Given the description of an element on the screen output the (x, y) to click on. 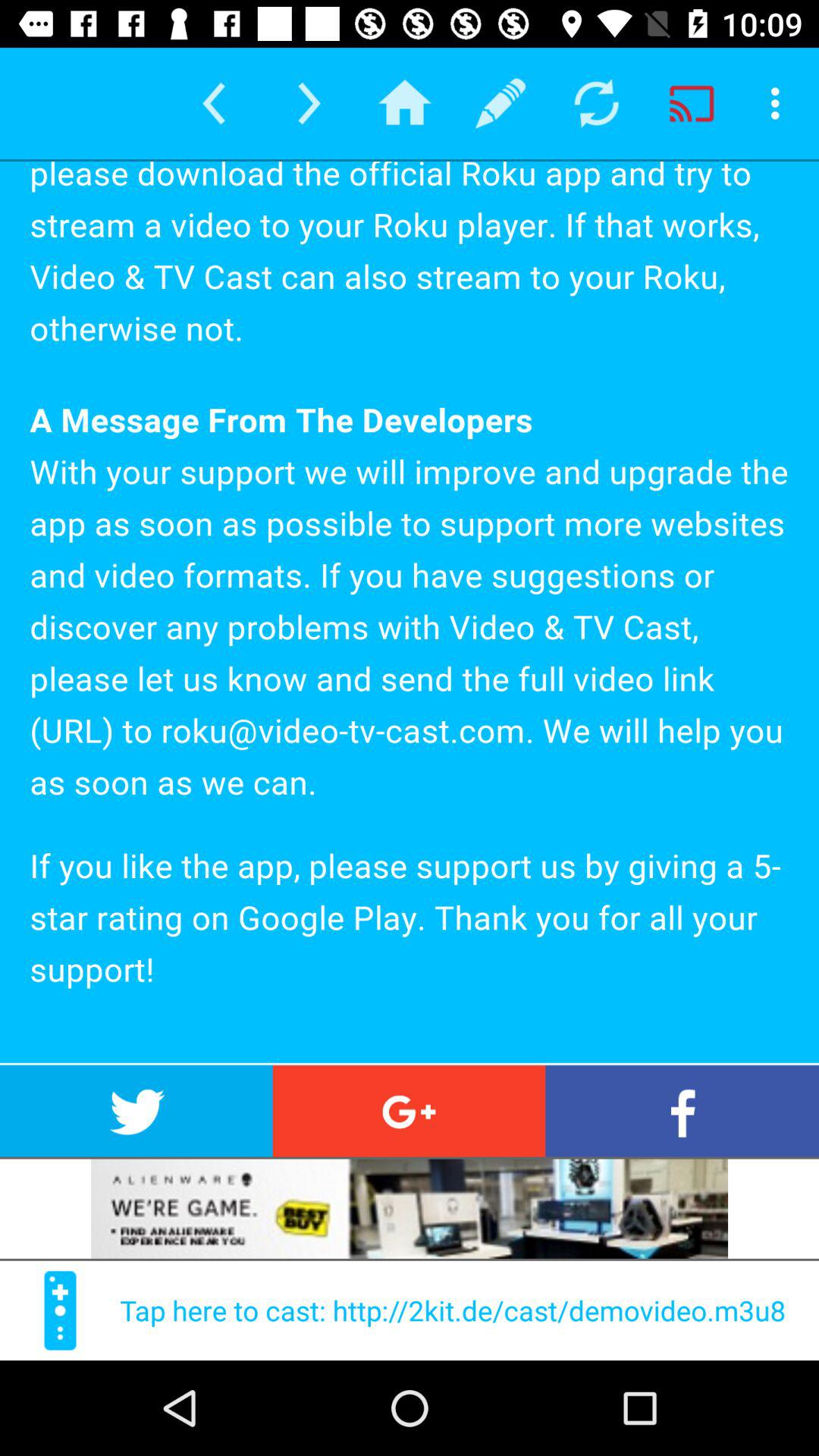
click to view add (409, 1208)
